Given the description of an element on the screen output the (x, y) to click on. 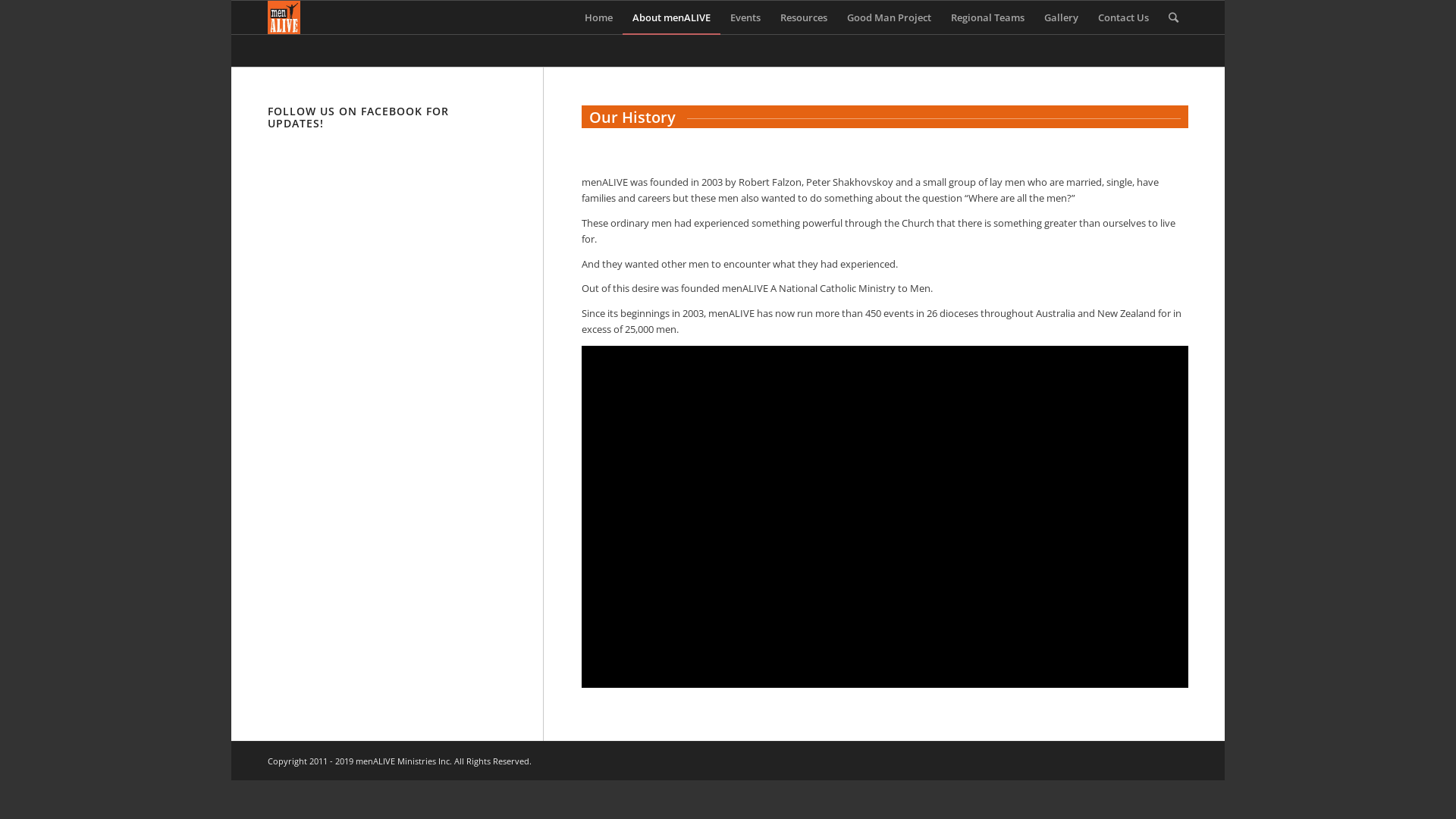
Events Element type: text (745, 17)
Regional Teams Element type: text (987, 17)
Good Man Project Element type: text (889, 17)
Home Element type: text (598, 17)
Resources Element type: text (803, 17)
About menALIVE Element type: text (671, 17)
Contact Us Element type: text (1123, 17)
Gallery Element type: text (1061, 17)
